Given the description of an element on the screen output the (x, y) to click on. 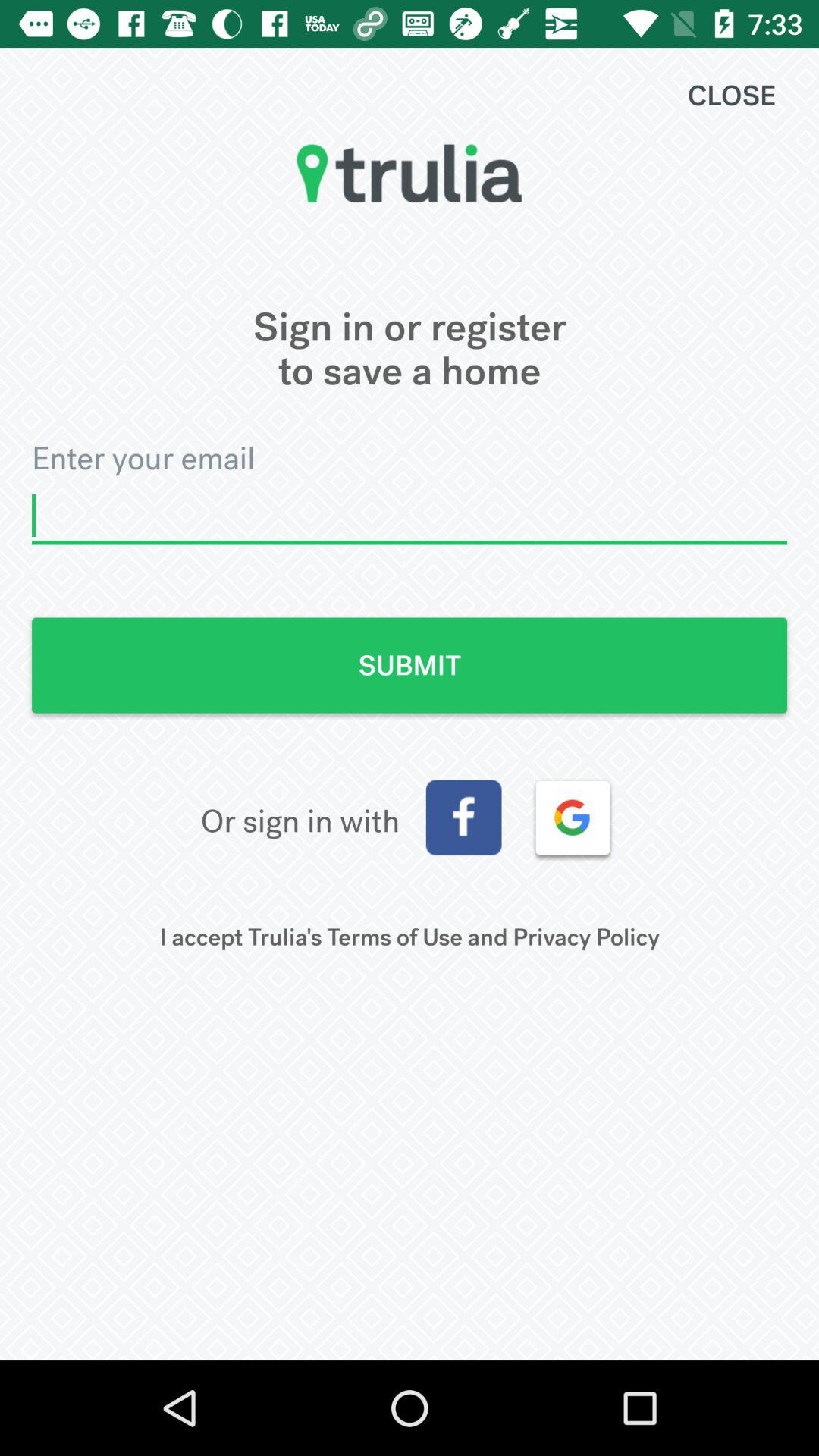
sign in with google (572, 817)
